Given the description of an element on the screen output the (x, y) to click on. 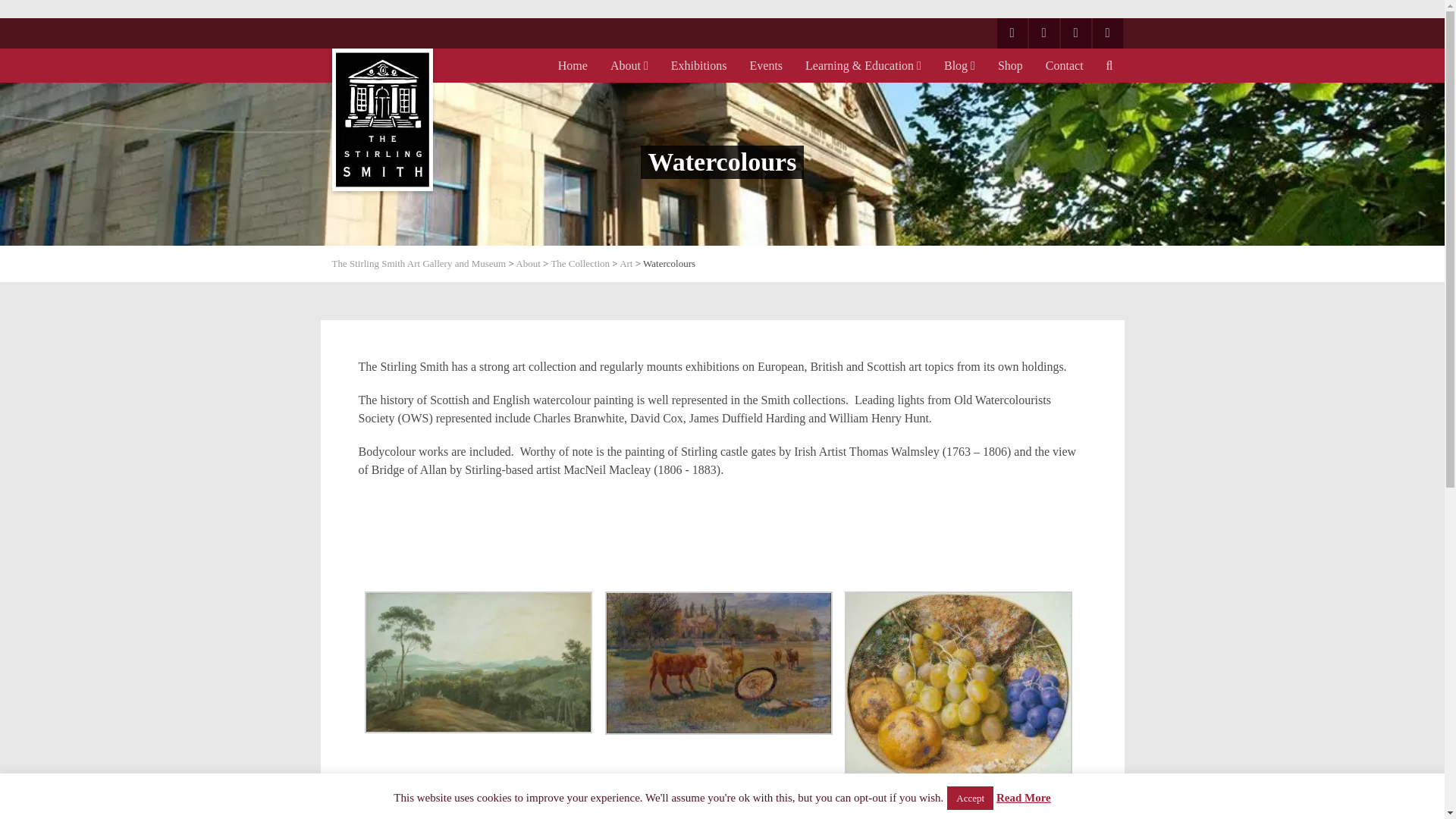
The Stirling Smith Art Gallery and Museum (418, 263)
The Collection (580, 263)
Go to Art. (625, 263)
Exhibitions (698, 65)
Contact (1064, 65)
Blog (959, 65)
Art (625, 263)
Go to The Collection. (580, 263)
Events (766, 65)
Go to The Stirling Smith Art Gallery and Museum. (418, 263)
Go to About. (527, 263)
About (628, 65)
About (527, 263)
